Given the description of an element on the screen output the (x, y) to click on. 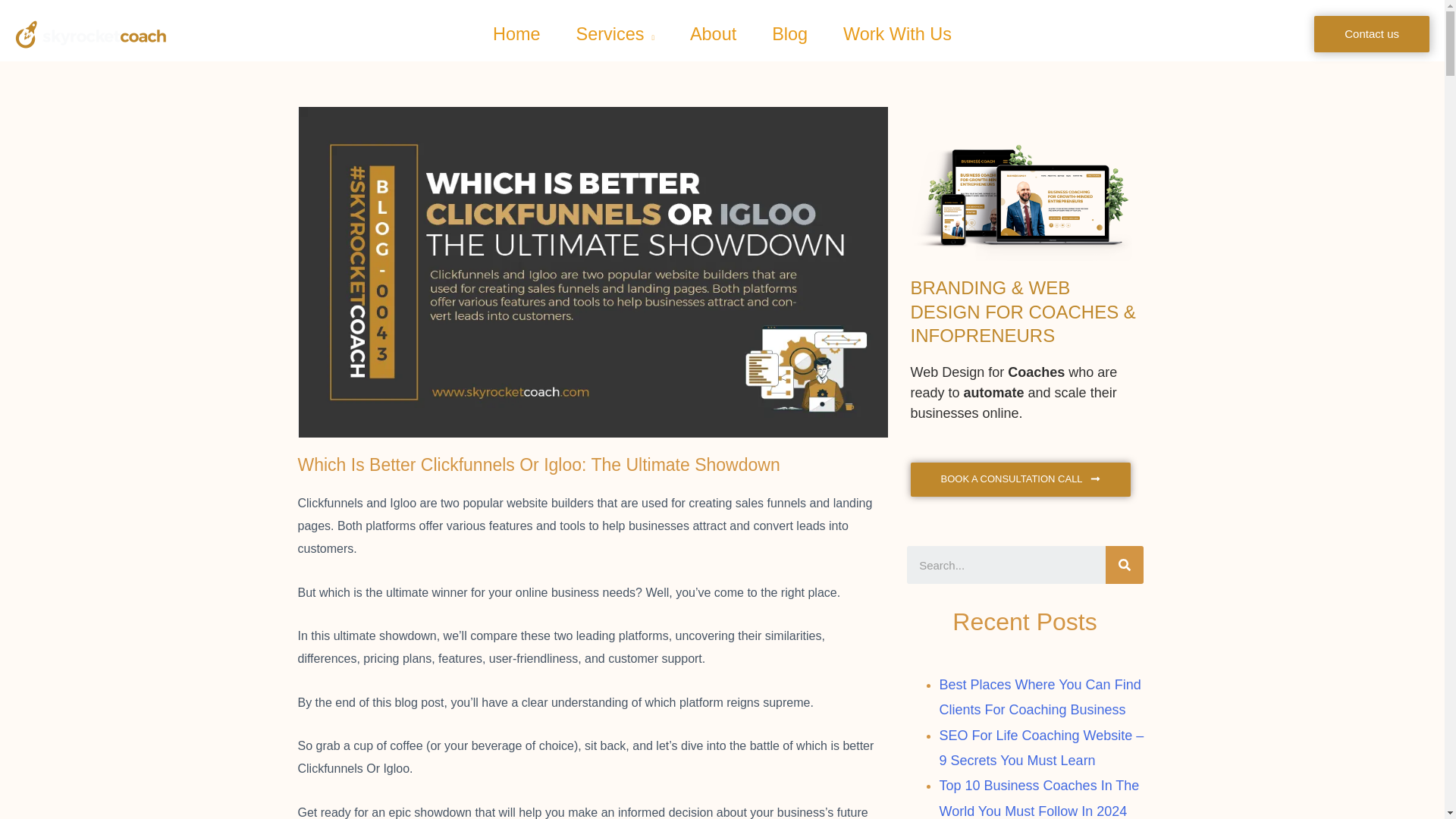
Home (516, 33)
Blog (789, 33)
Work With Us (897, 33)
About (712, 33)
Contact us (1371, 33)
Services (614, 33)
